Given the description of an element on the screen output the (x, y) to click on. 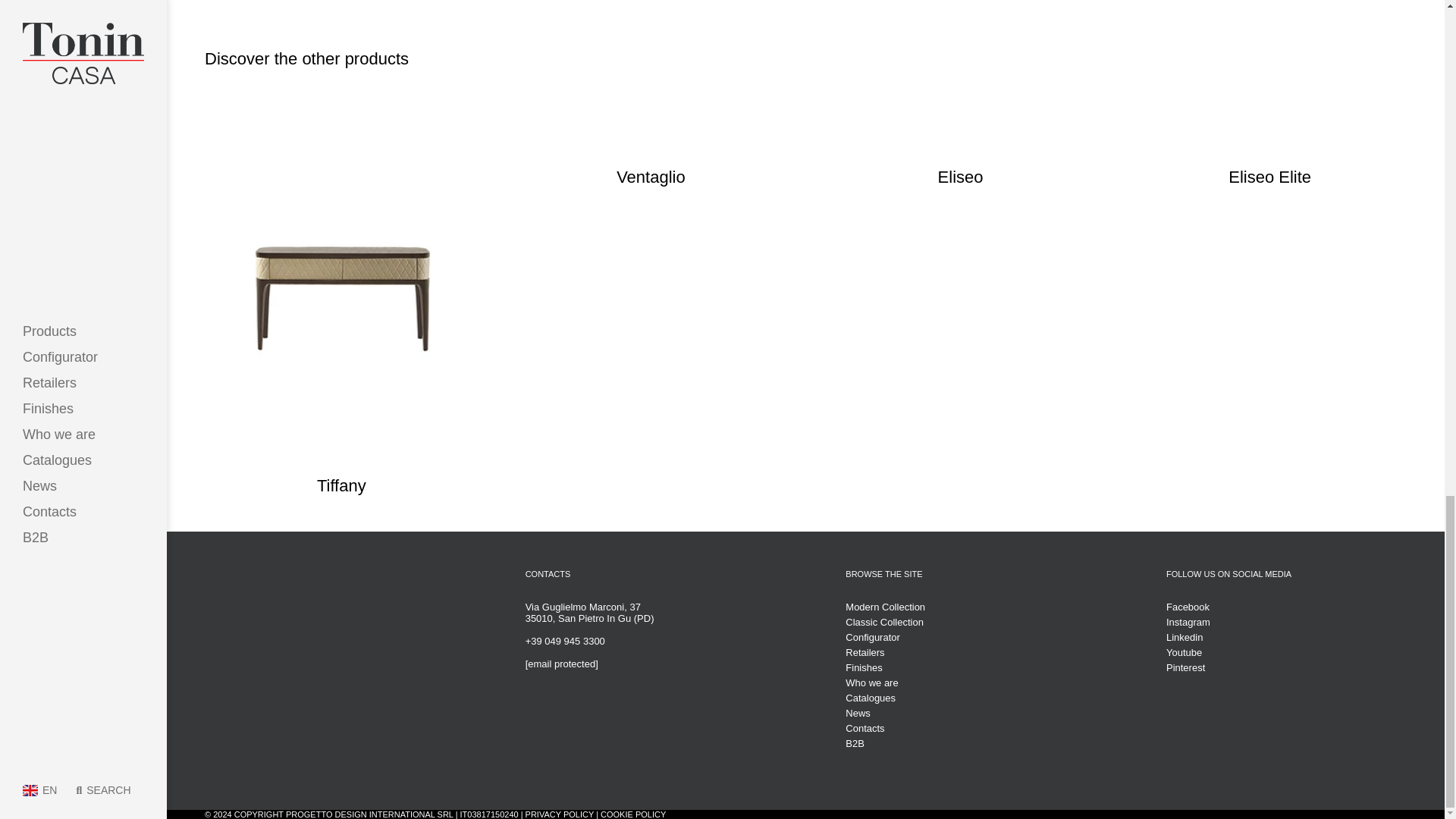
Contacts (965, 727)
Classic Collection (965, 622)
Instagram (1286, 622)
Finishes (965, 667)
Retailers (965, 652)
Configurator (965, 636)
News (965, 713)
B2B (965, 743)
Eliseo Elite (1269, 165)
Eliseo (960, 165)
